Given the description of an element on the screen output the (x, y) to click on. 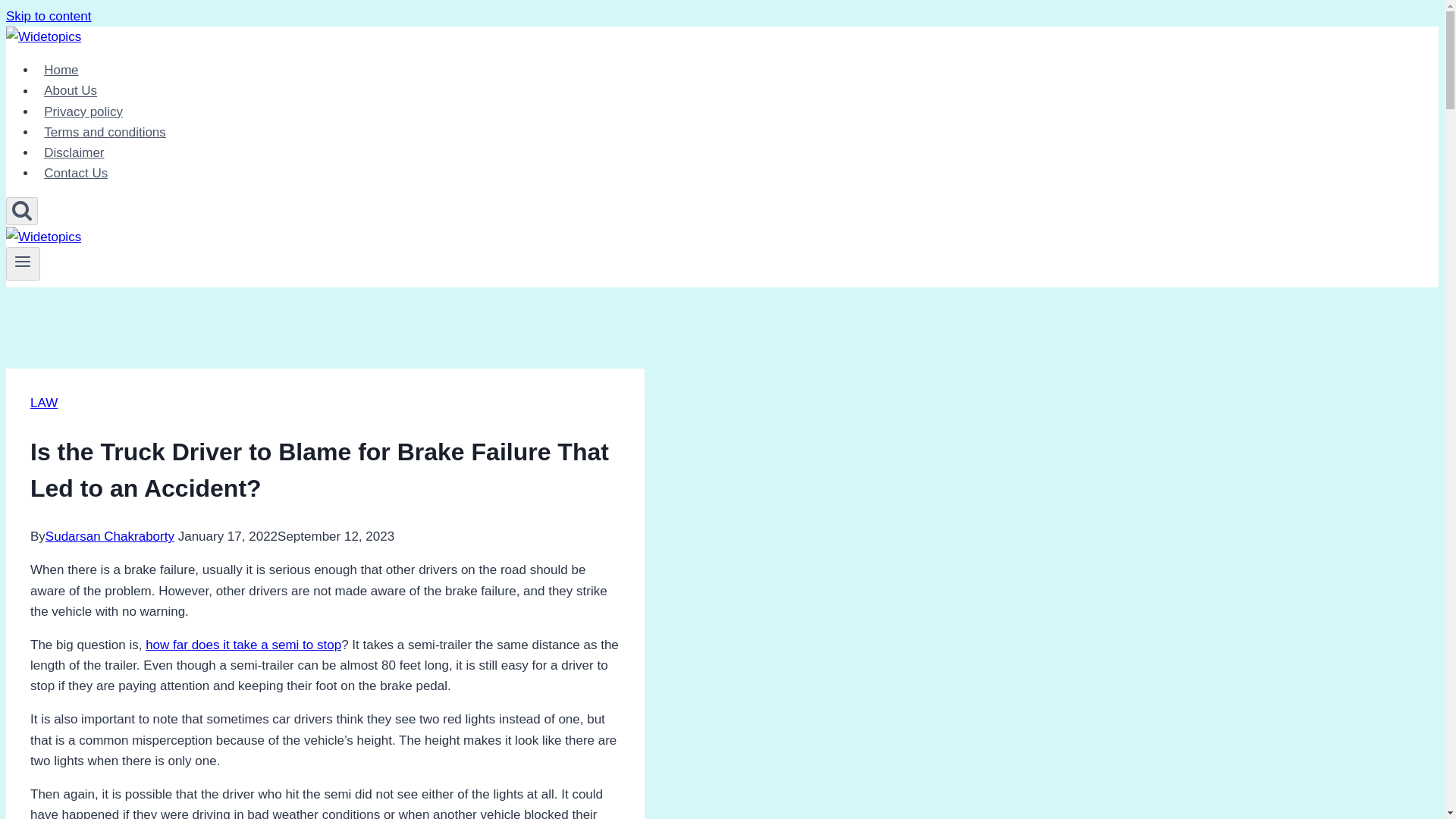
Home (60, 70)
Search (21, 211)
Skip to content (47, 16)
LAW (44, 402)
Search (21, 209)
Sudarsan Chakraborty (109, 536)
Skip to content (47, 16)
Disclaimer (74, 152)
Toggle Menu (22, 263)
Toggle Menu (22, 261)
